Given the description of an element on the screen output the (x, y) to click on. 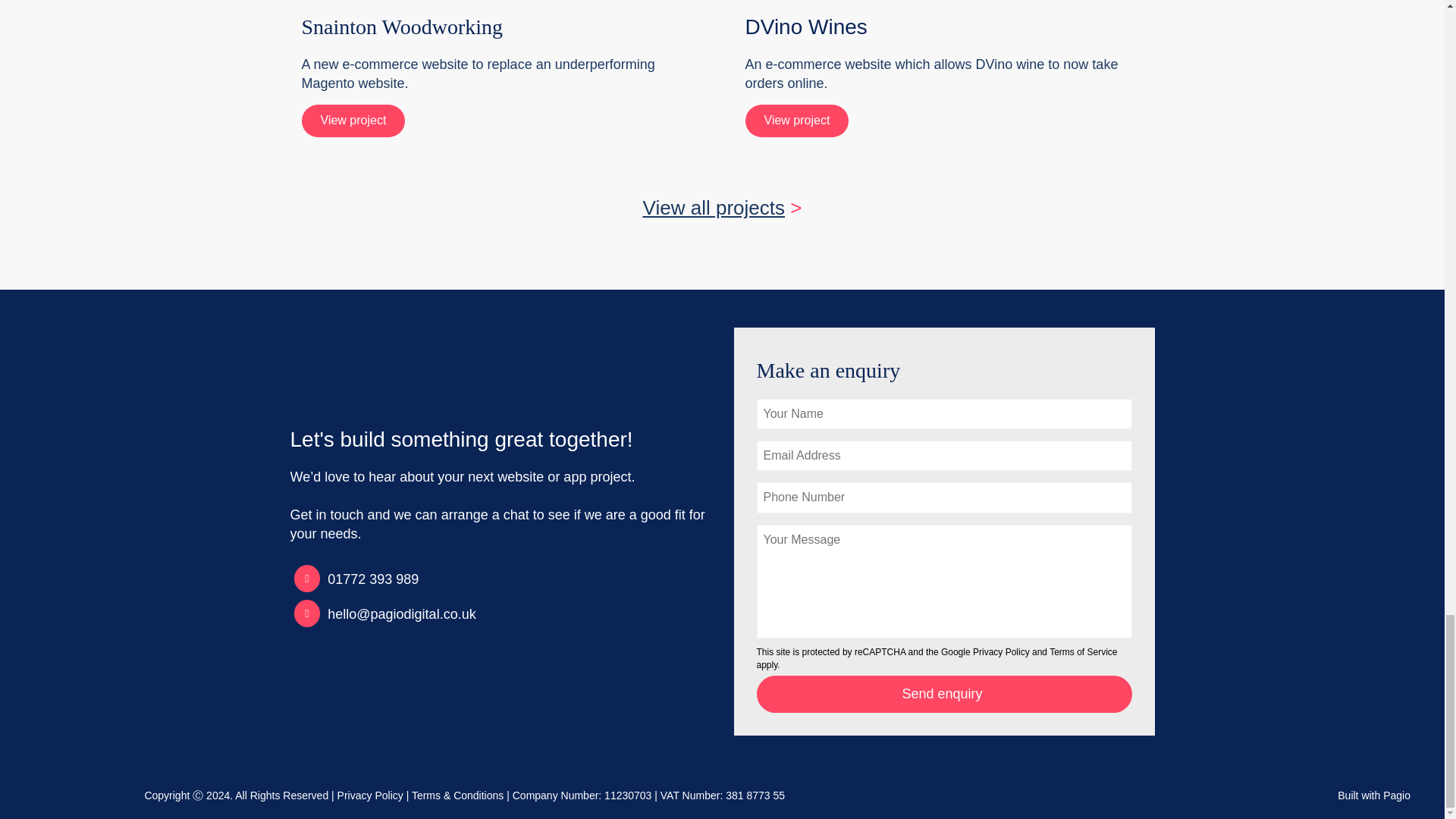
View project (353, 120)
DVino Wines (805, 26)
View all projects (713, 207)
View project (353, 120)
View project (796, 120)
Send enquiry  (944, 693)
View project (796, 120)
Built with Pagio (1378, 795)
Privacy Policy (1000, 652)
Terms of Service (1082, 652)
Privacy Policy (370, 795)
Snainton Woodworking (402, 26)
Send enquiry  (944, 693)
